Given the description of an element on the screen output the (x, y) to click on. 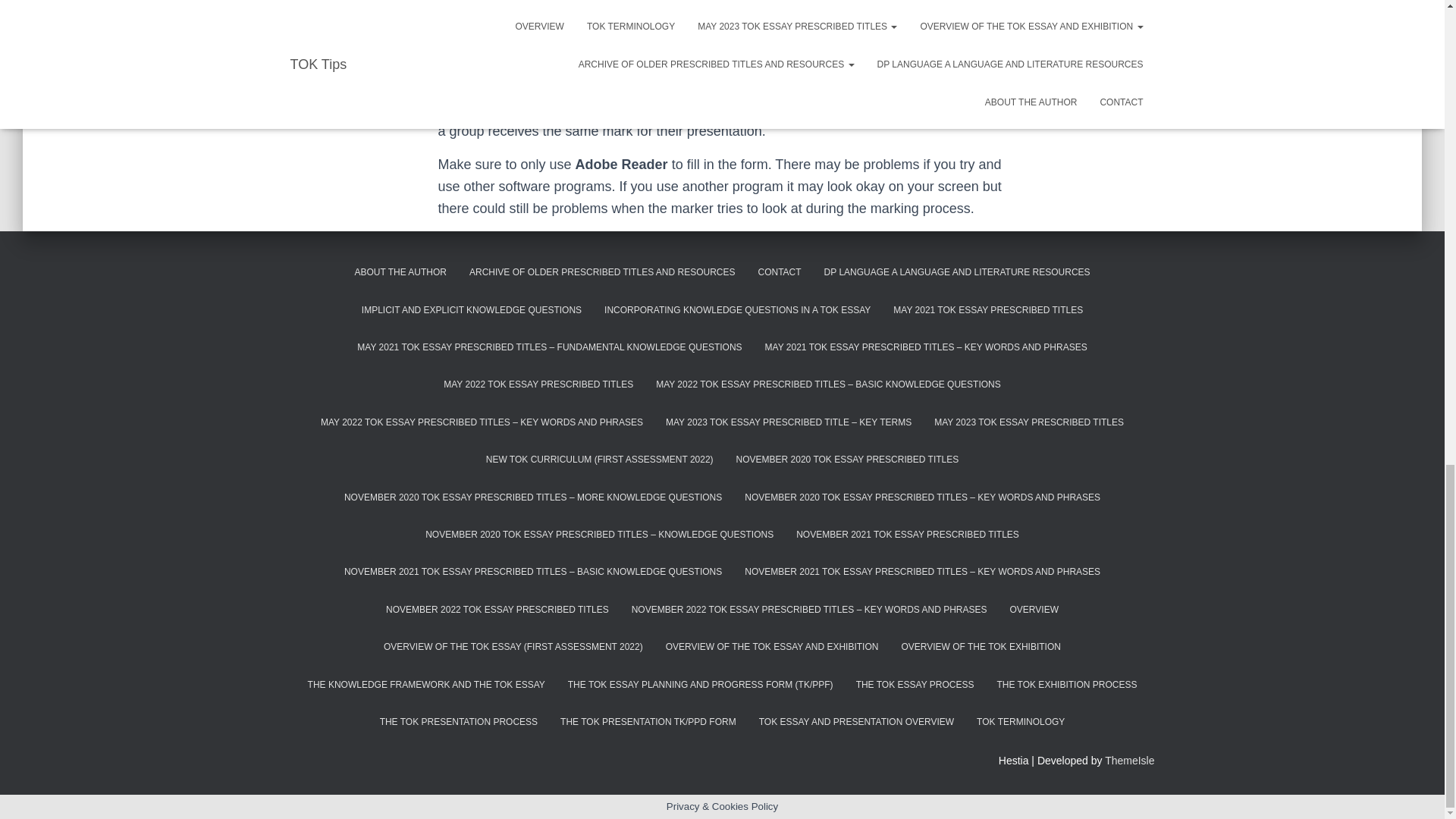
DP LANGUAGE A LANGUAGE AND LITERATURE RESOURCES (957, 272)
CONTACT (778, 272)
ARCHIVE OF OLDER PRESCRIBED TITLES AND RESOURCES (602, 272)
IMPLICIT AND EXPLICIT KNOWLEDGE QUESTIONS (471, 310)
ABOUT THE AUTHOR (400, 272)
INCORPORATING KNOWLEDGE QUESTIONS IN A TOK ESSAY (737, 310)
